Given the description of an element on the screen output the (x, y) to click on. 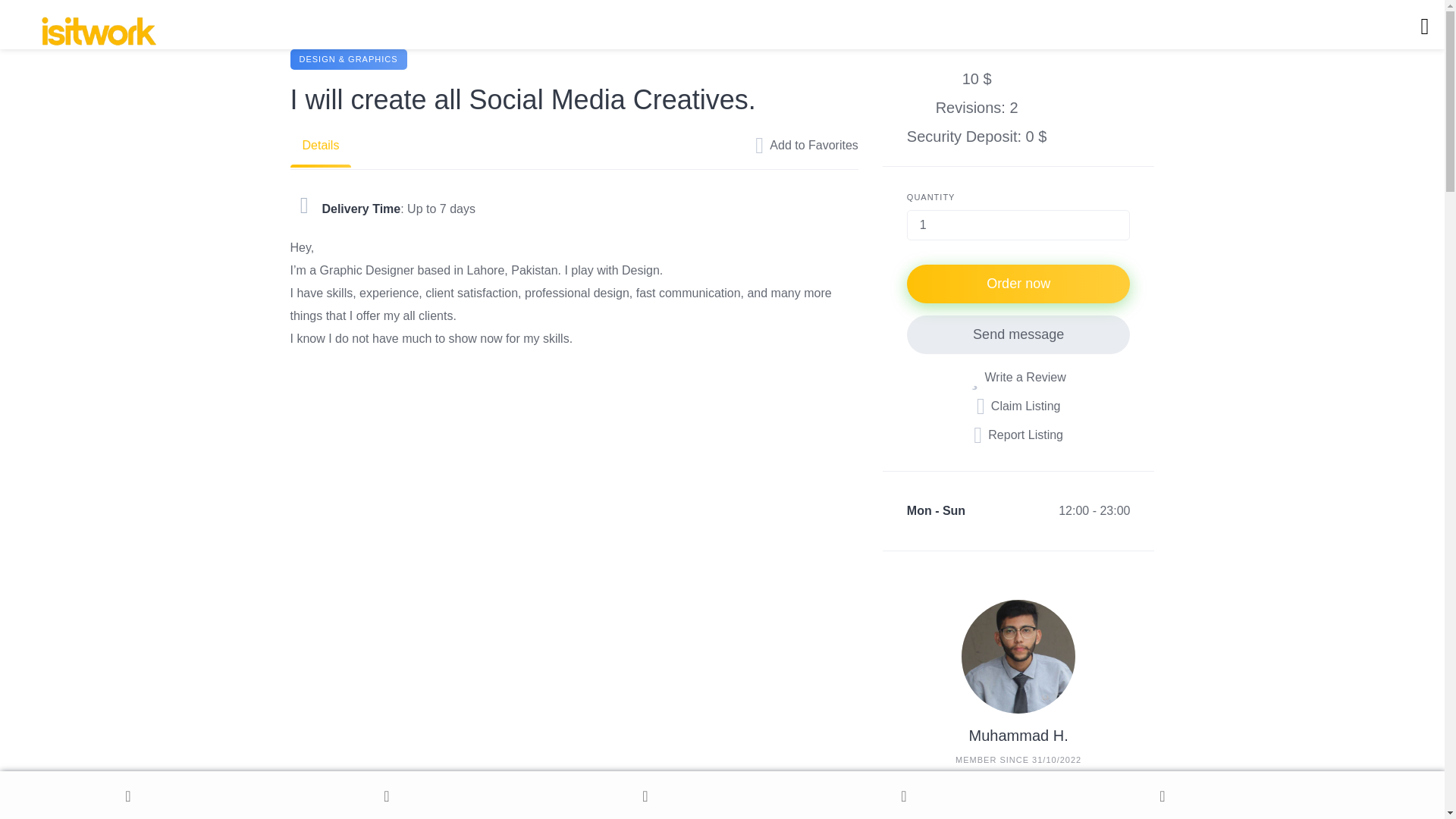
Write a Review (1018, 376)
Claim Listing (1018, 404)
Send message (1132, 816)
1 (1019, 224)
Order now (1019, 282)
Details (320, 145)
Add to Favorites (806, 145)
Send message (1019, 334)
Muhammad H. (1018, 734)
Report Listing (1018, 434)
